Given the description of an element on the screen output the (x, y) to click on. 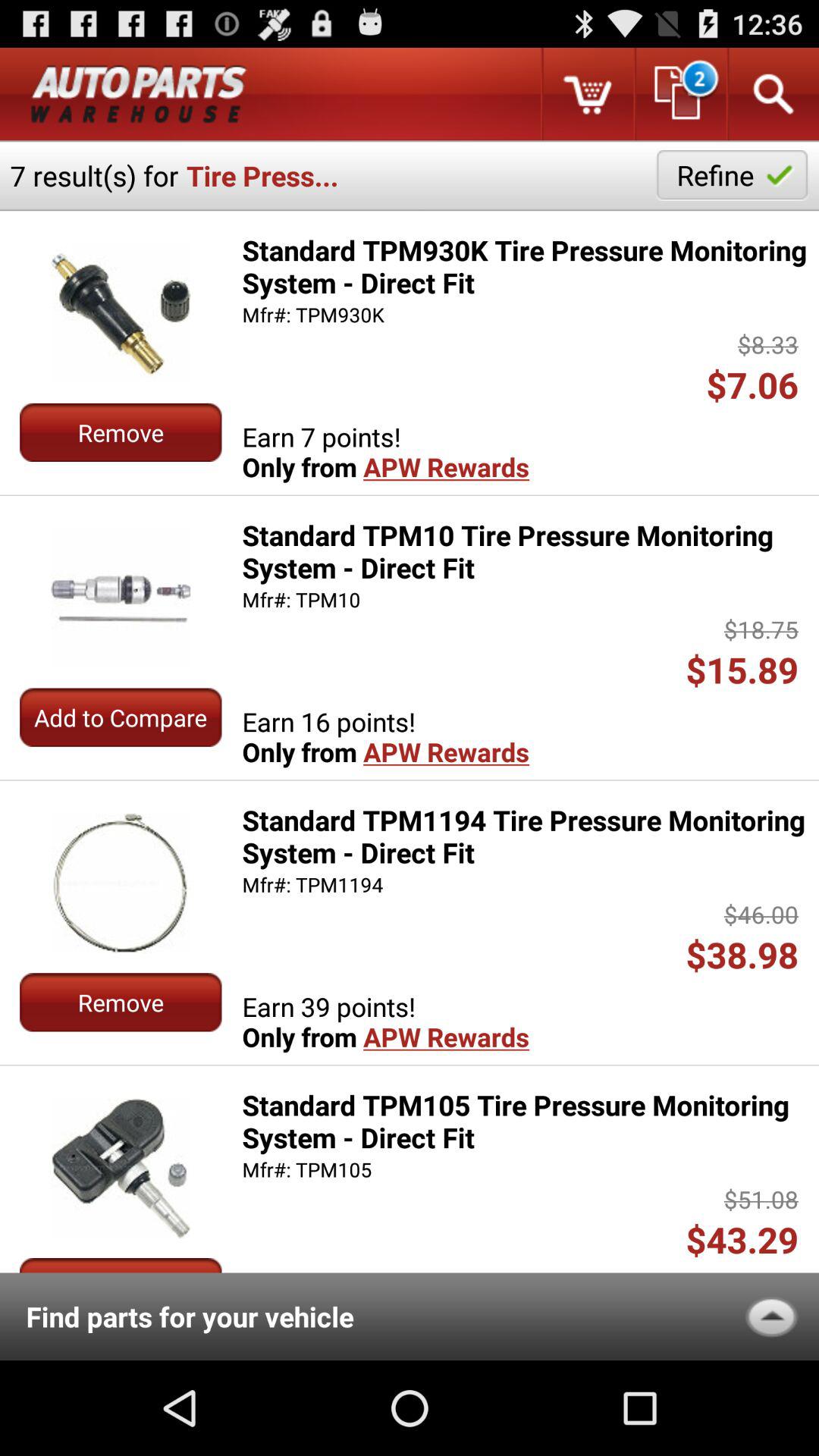
open cart (586, 93)
